Given the description of an element on the screen output the (x, y) to click on. 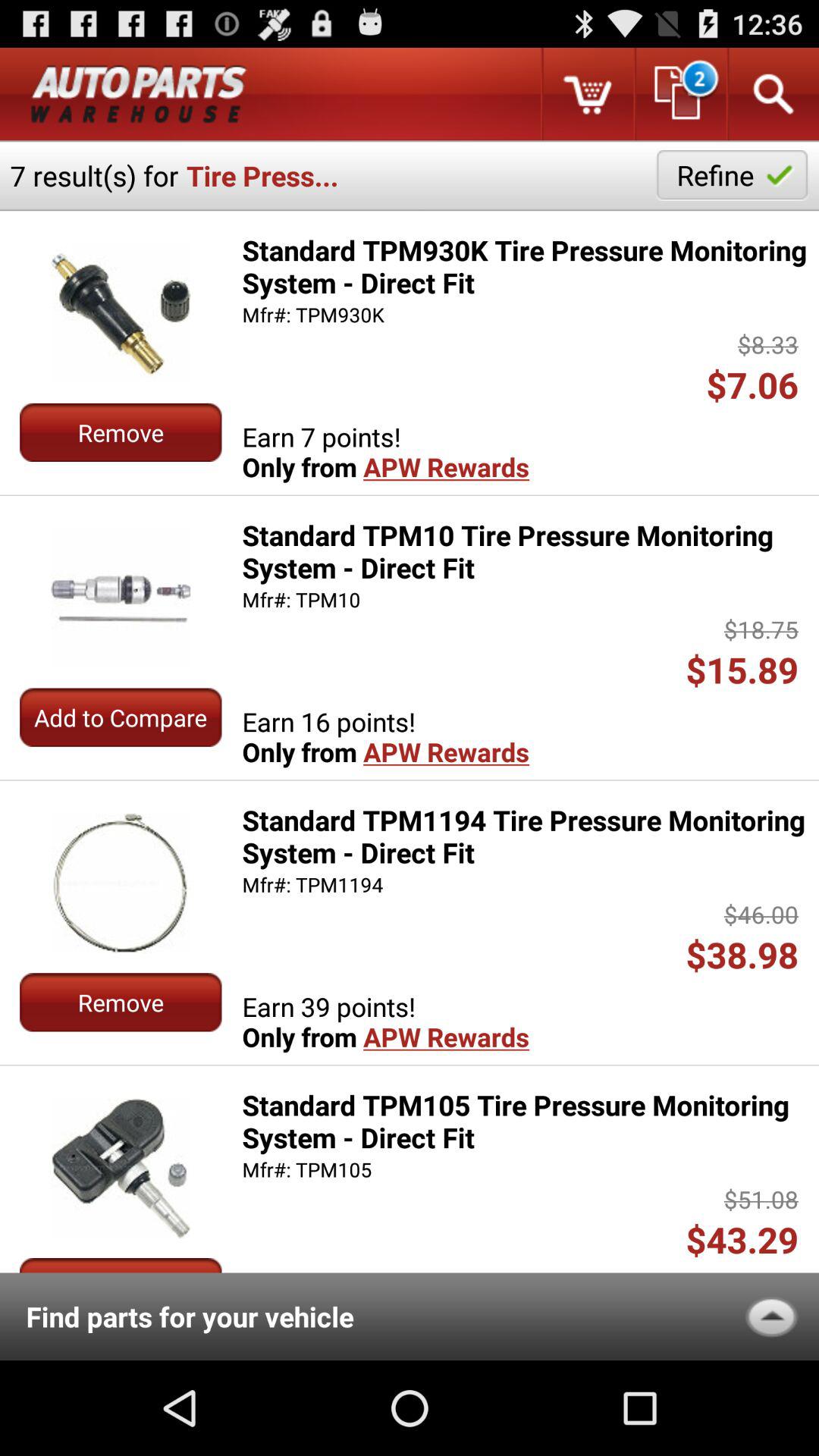
open cart (586, 93)
